Given the description of an element on the screen output the (x, y) to click on. 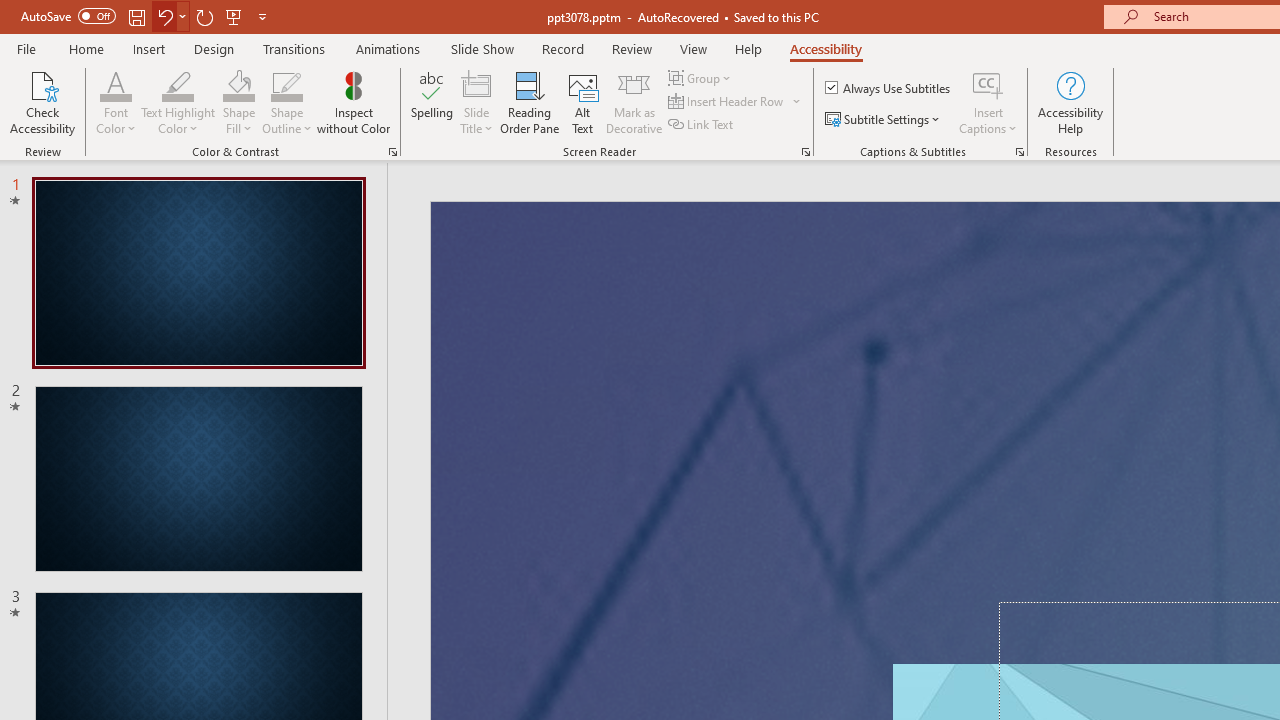
Accessibility Help (1070, 102)
Insert Header Row (727, 101)
Group (701, 78)
Slide Title (476, 102)
Insert Captions (988, 102)
